Given the description of an element on the screen output the (x, y) to click on. 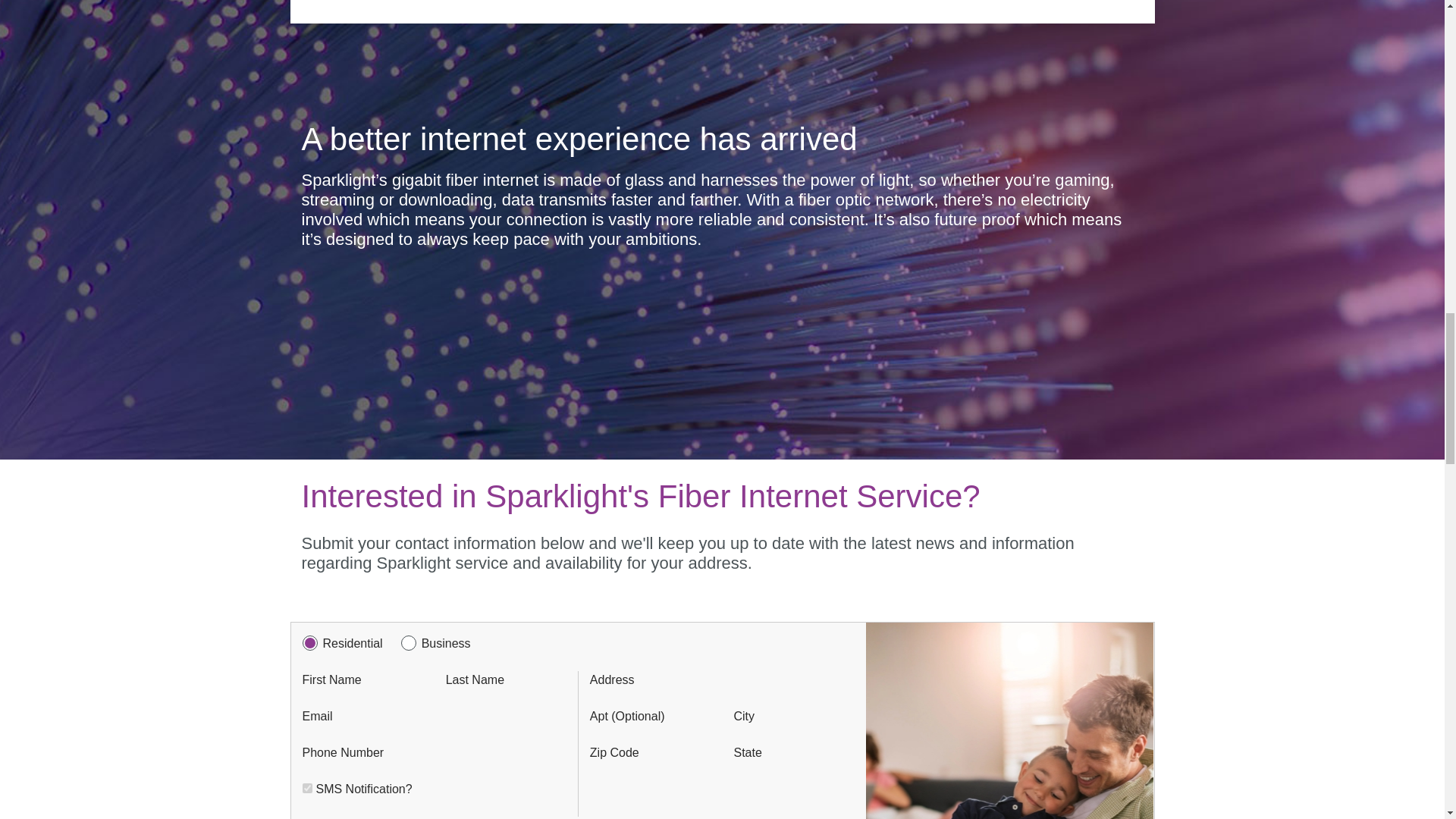
true (306, 787)
